Given the description of an element on the screen output the (x, y) to click on. 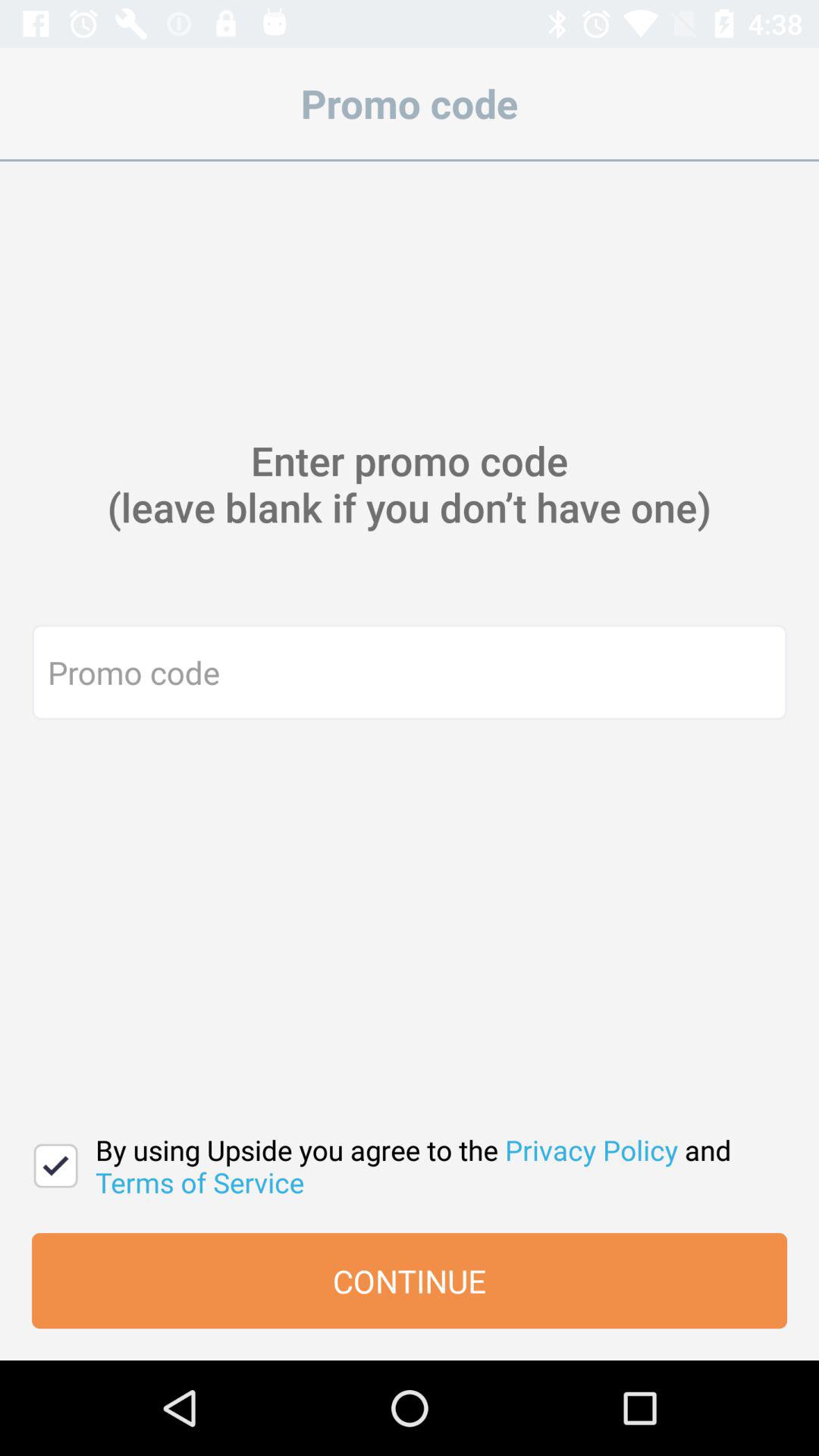
launch the item below by using upside item (409, 1280)
